Given the description of an element on the screen output the (x, y) to click on. 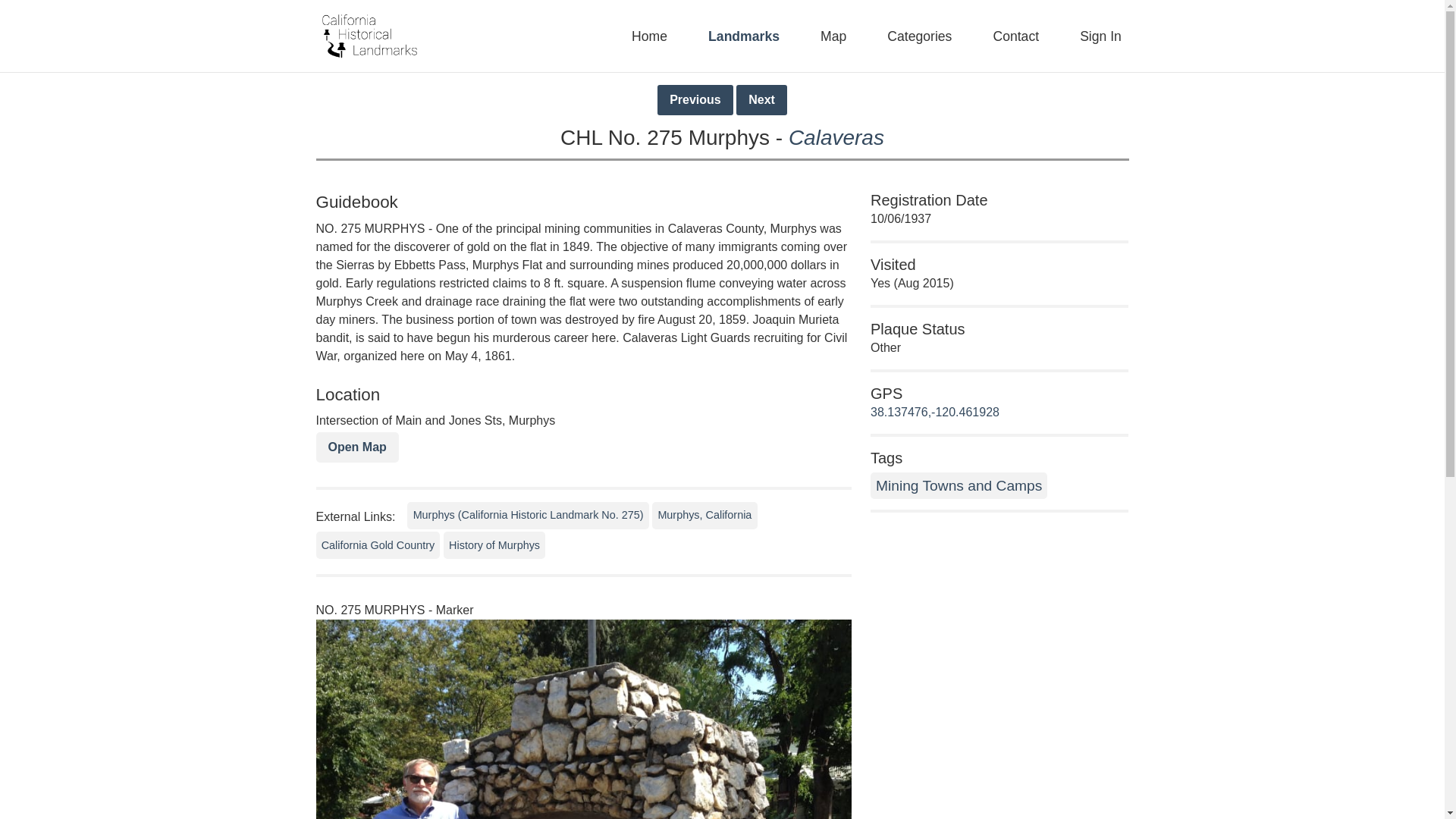
Next (761, 100)
Categories (925, 36)
Open Map (356, 447)
Landmarks (749, 36)
History of Murphys (494, 544)
Mining Towns and Camps (958, 485)
California Gold Country (377, 544)
Calaveras (836, 137)
Previous (695, 100)
38.137476,-120.461928 (934, 411)
Murphys, California (704, 515)
